Given the description of an element on the screen output the (x, y) to click on. 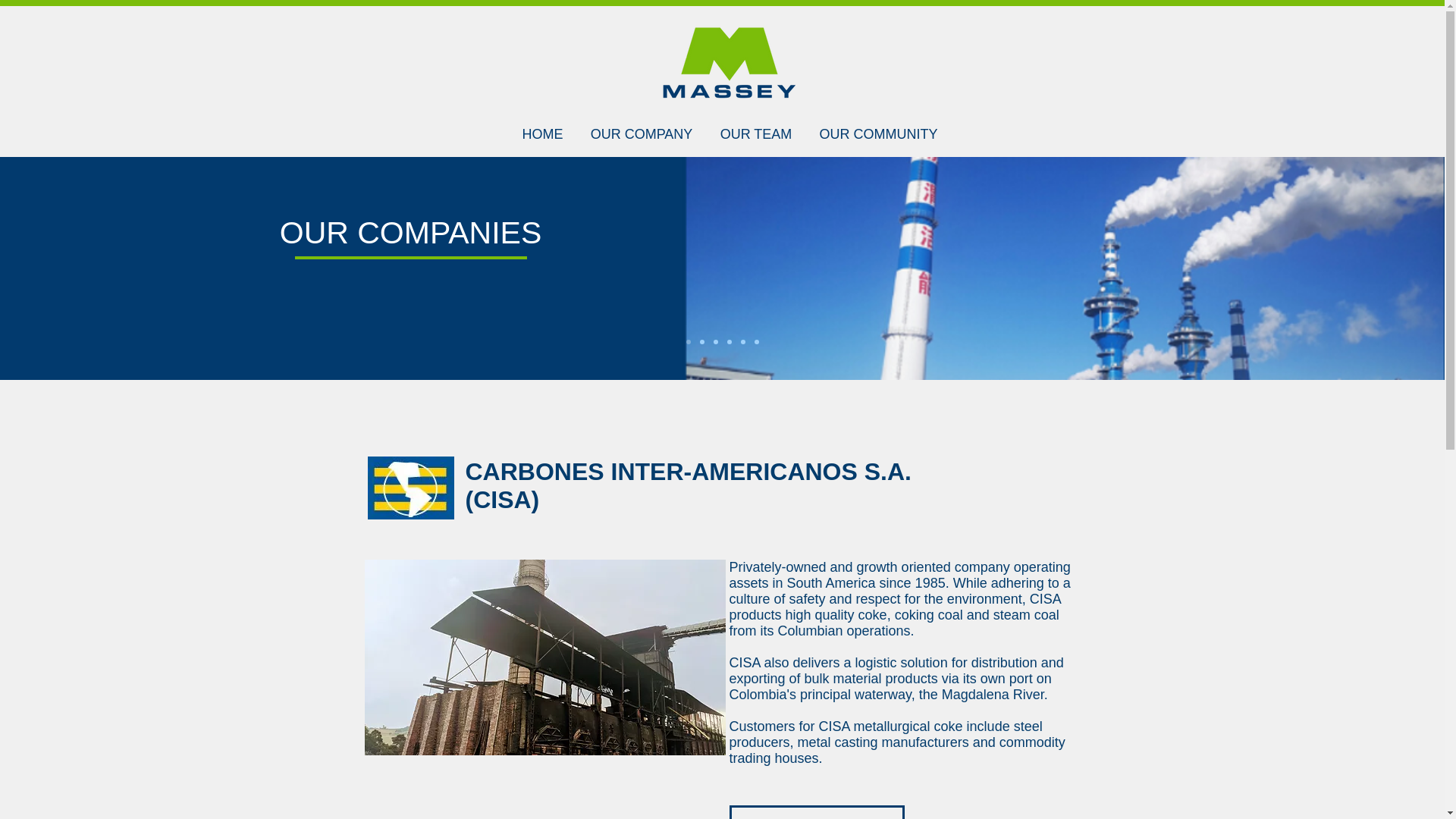
MORE INFO (816, 812)
HOME (542, 126)
OUR COMPANY (641, 126)
OUR TEAM (756, 126)
OUR COMMUNITY (877, 126)
